Given the description of an element on the screen output the (x, y) to click on. 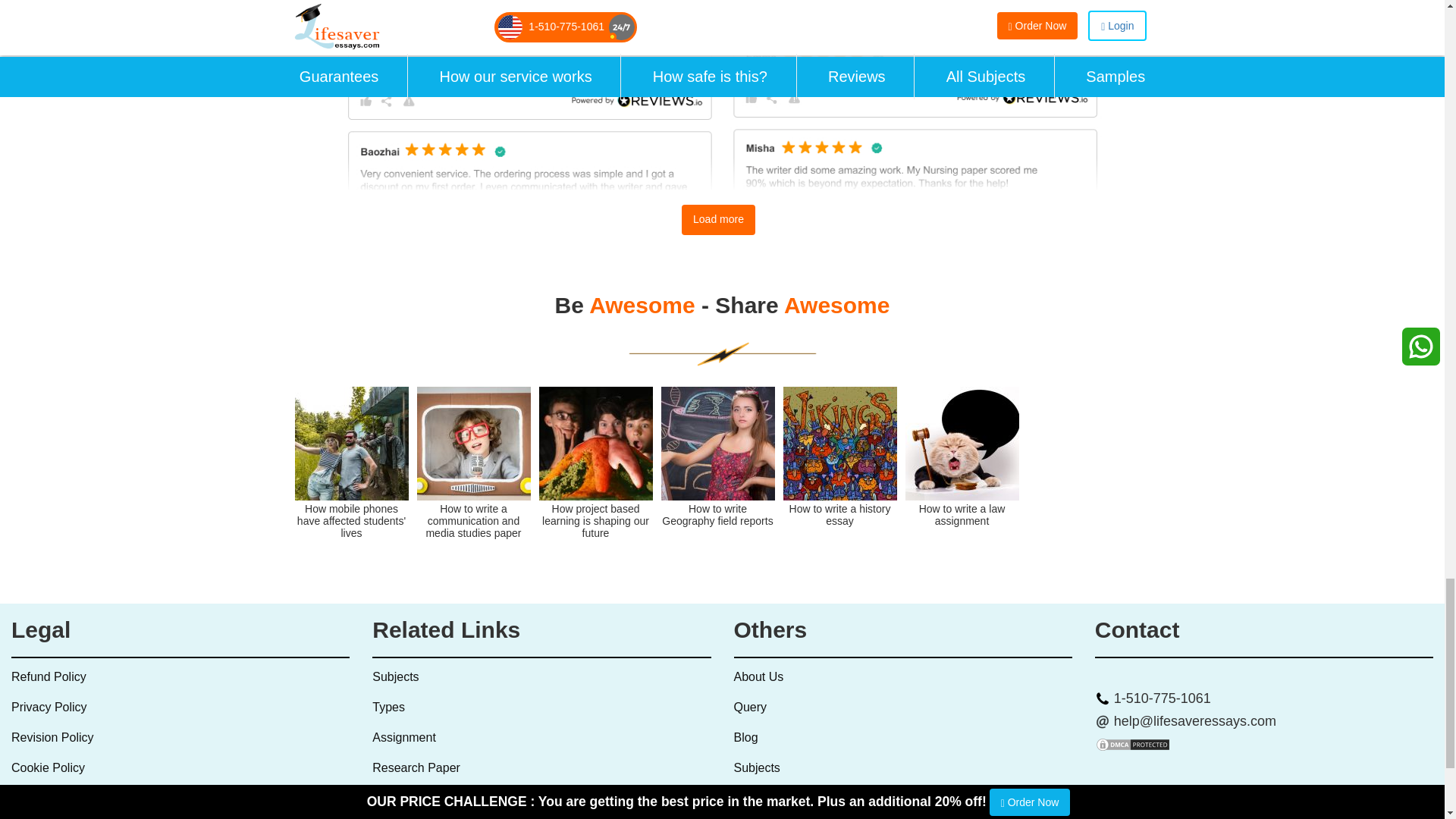
Refund Policy (48, 676)
Load more (718, 219)
Revision Policy (52, 737)
Confidentiality Policy (67, 797)
Cookie Policy (47, 767)
Privacy Policy (49, 707)
